Given the description of an element on the screen output the (x, y) to click on. 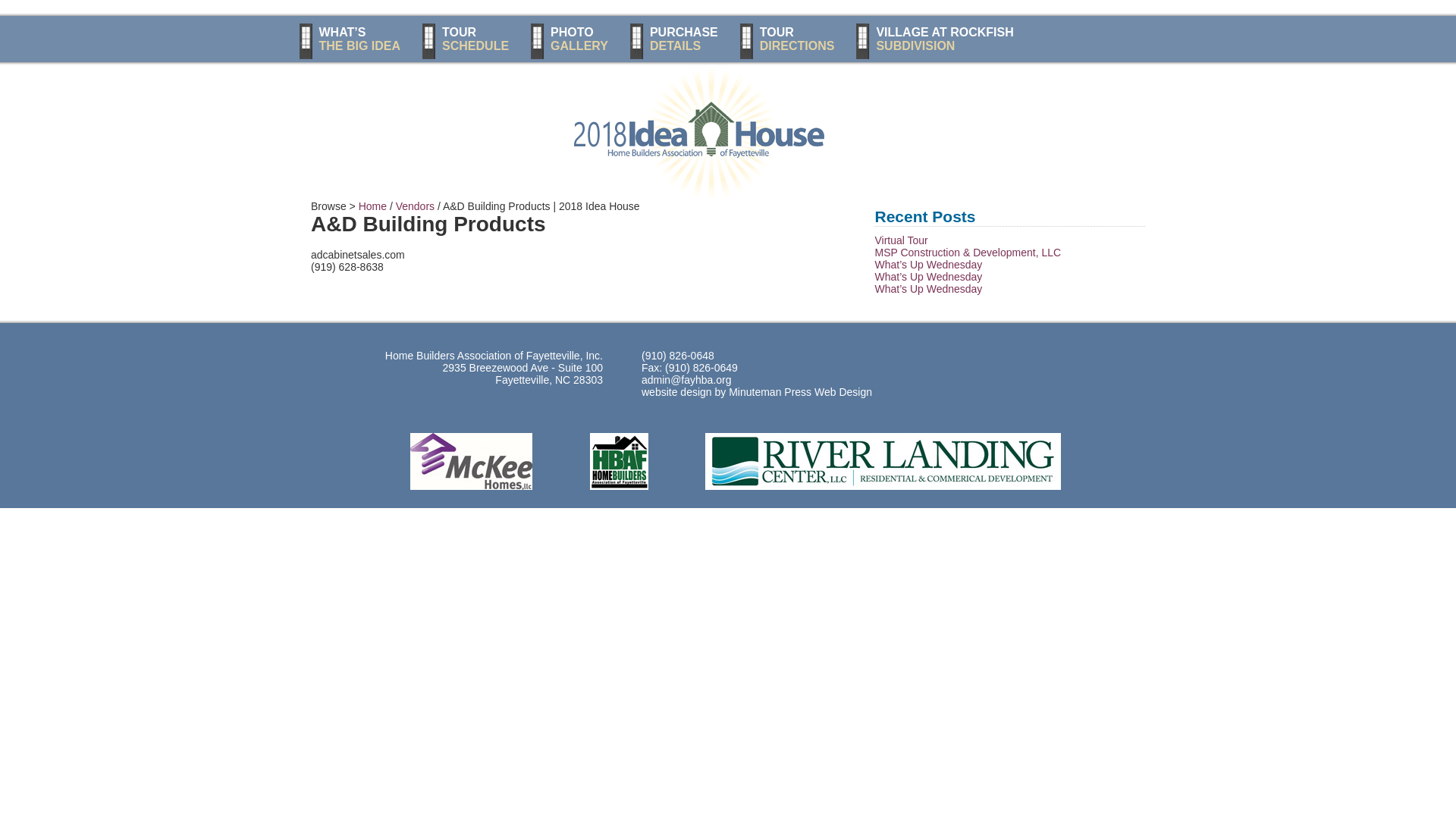
TOUR
DIRECTIONS Element type: text (787, 38)
PURCHASE
DETAILS Element type: text (674, 38)
TOUR
SCHEDULE Element type: text (465, 38)
Home Element type: text (372, 206)
admin@fayhba.org Element type: text (686, 379)
PHOTO
GALLERY Element type: text (569, 38)
Virtual Tour Element type: text (900, 240)
VILLAGE AT ROCKFISH
SUBDIVISION Element type: text (934, 38)
website design by Minuteman Press Web Design Element type: text (756, 391)
Vendors Element type: text (414, 206)
MSP Construction & Development, LLC Element type: text (967, 252)
